Given the description of an element on the screen output the (x, y) to click on. 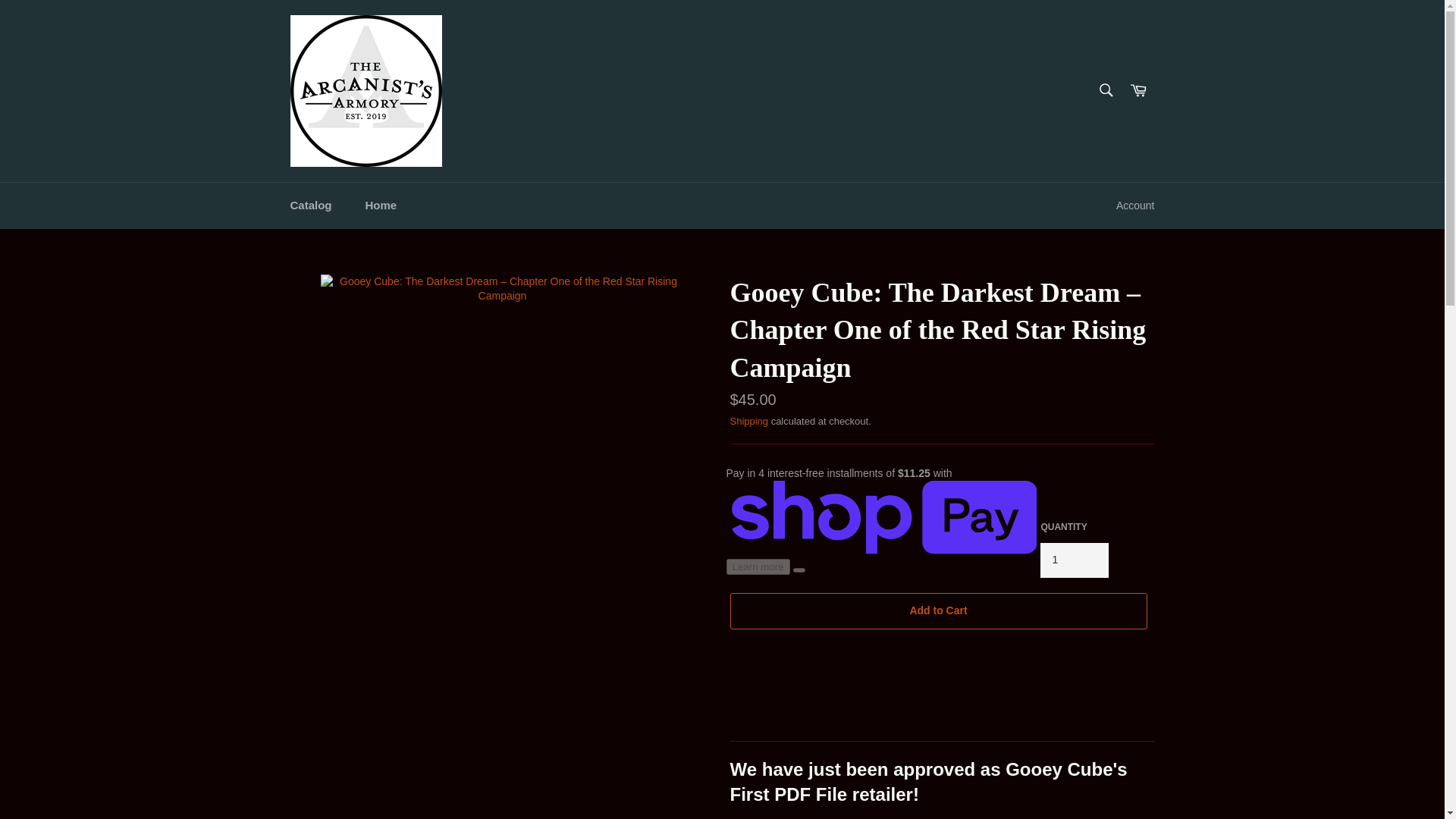
Cart (1138, 91)
1 (1074, 559)
Catalog (310, 205)
Search (1104, 90)
Home (380, 205)
Account (1134, 205)
Shipping (748, 420)
Add to Cart (938, 610)
